Given the description of an element on the screen output the (x, y) to click on. 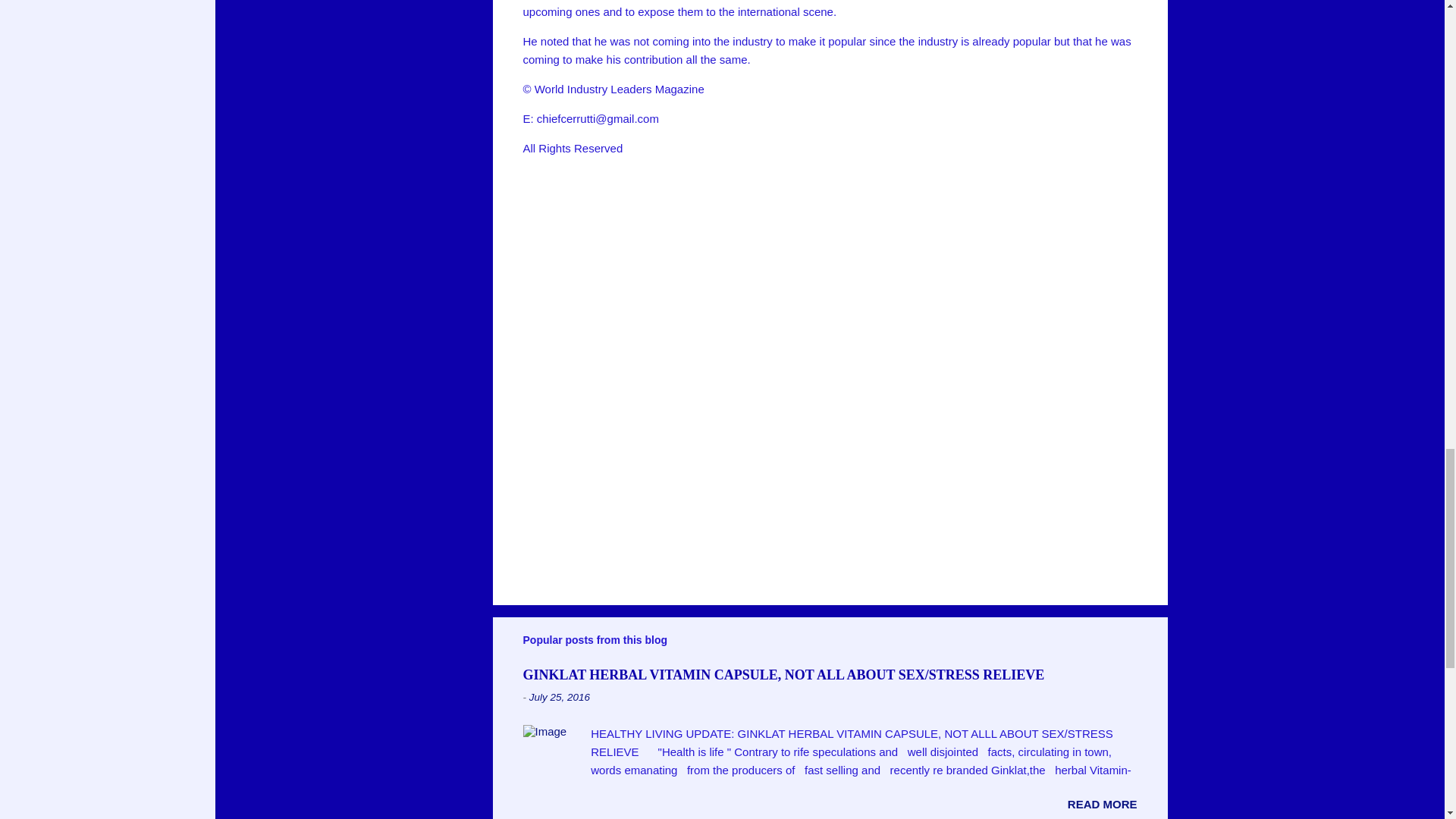
Email Post (562, 210)
READ MORE (1102, 803)
permanent link (559, 696)
July 25, 2016 (559, 696)
